Given the description of an element on the screen output the (x, y) to click on. 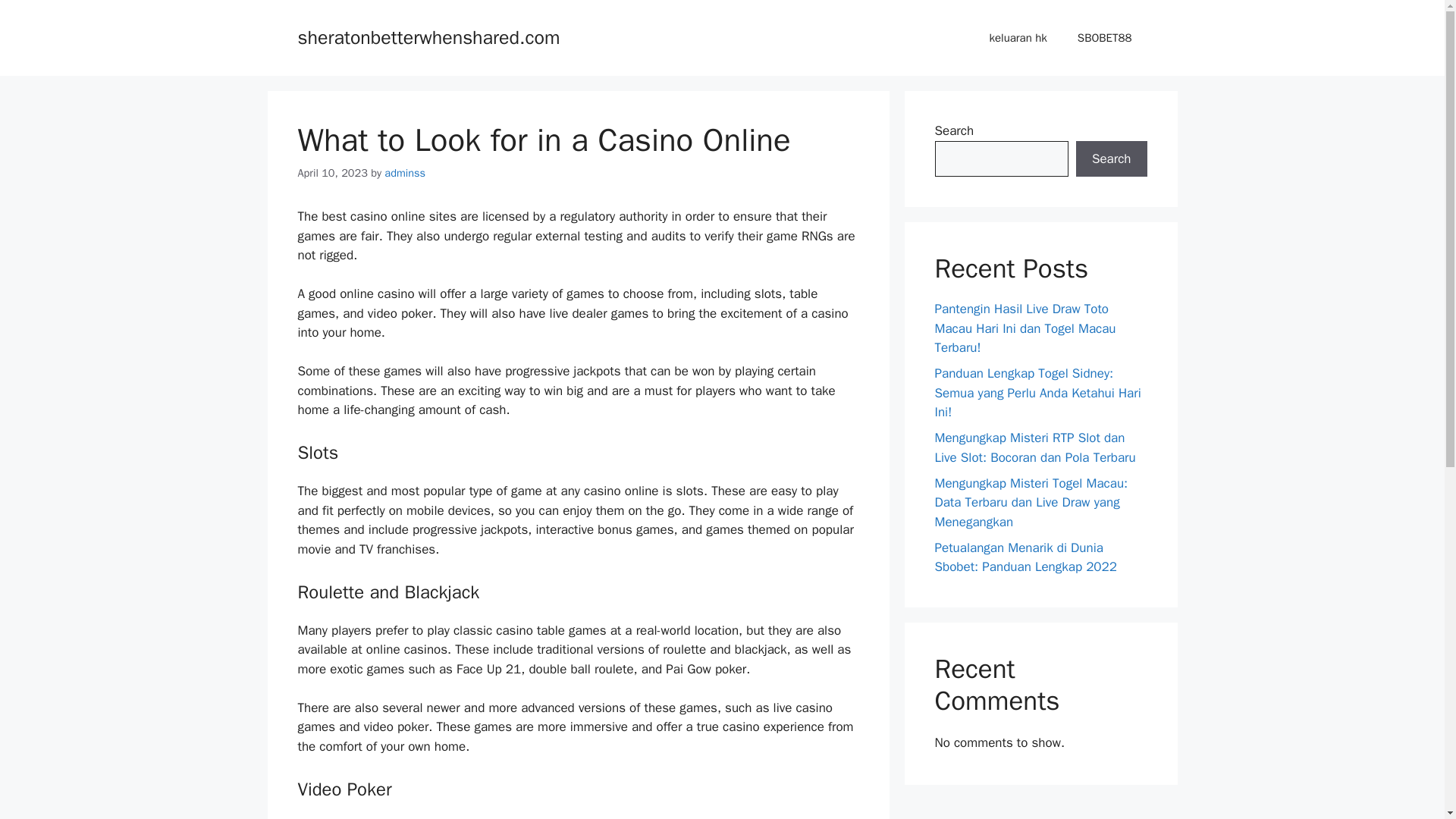
keluaran hk (1017, 37)
Petualangan Menarik di Dunia Sbobet: Panduan Lengkap 2022 (1025, 557)
SBOBET88 (1104, 37)
adminss (404, 172)
Search (1111, 158)
sheratonbetterwhenshared.com (428, 37)
